Given the description of an element on the screen output the (x, y) to click on. 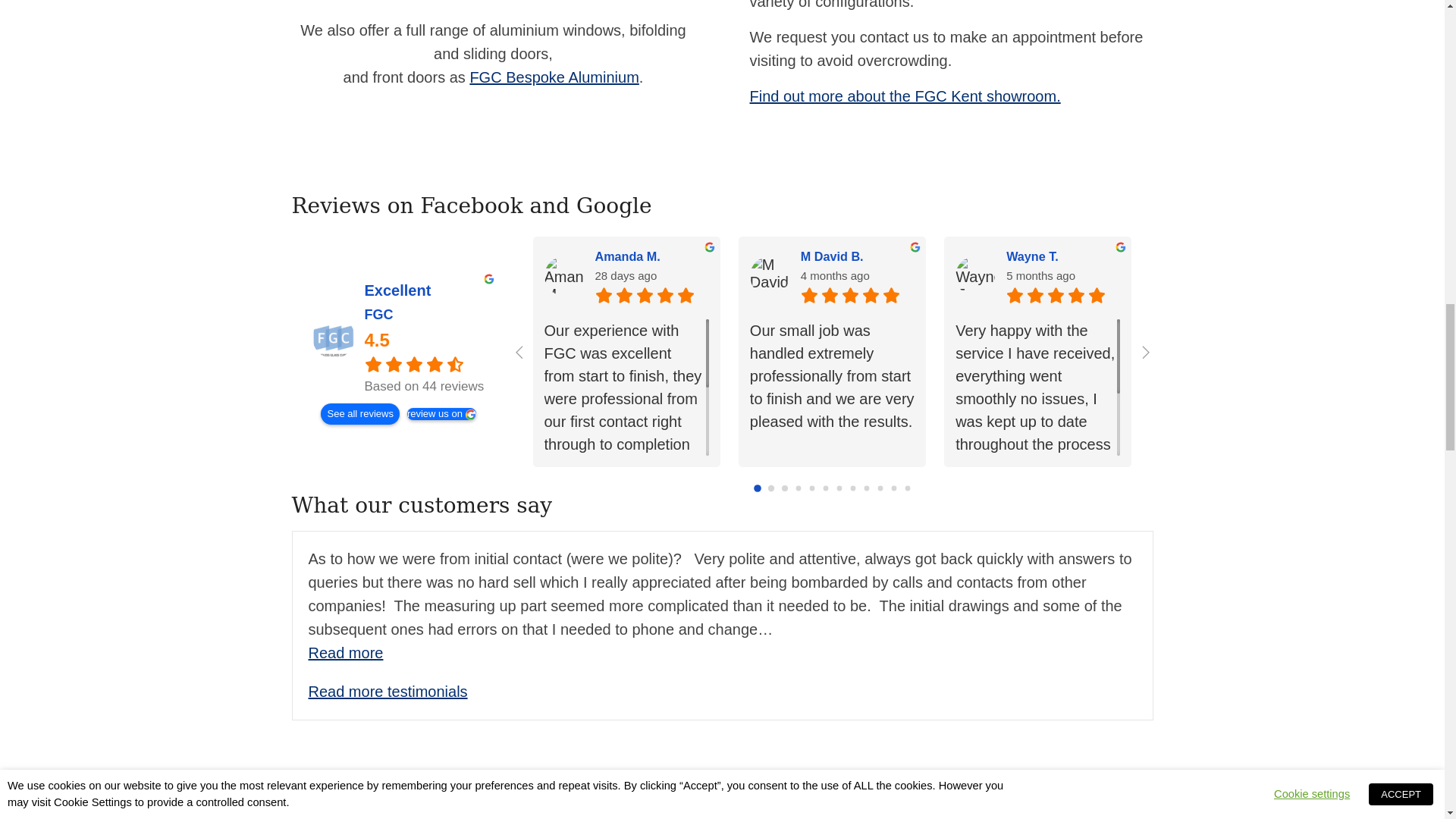
Wayne T. (974, 275)
Inci P. (1267, 256)
Find out more about the FGC Kent showroom. (904, 95)
See all reviews (359, 414)
Paul B. (1386, 275)
FGC Bespoke Aluminium (553, 76)
Amanda M. (650, 256)
FGC (334, 337)
